Given the description of an element on the screen output the (x, y) to click on. 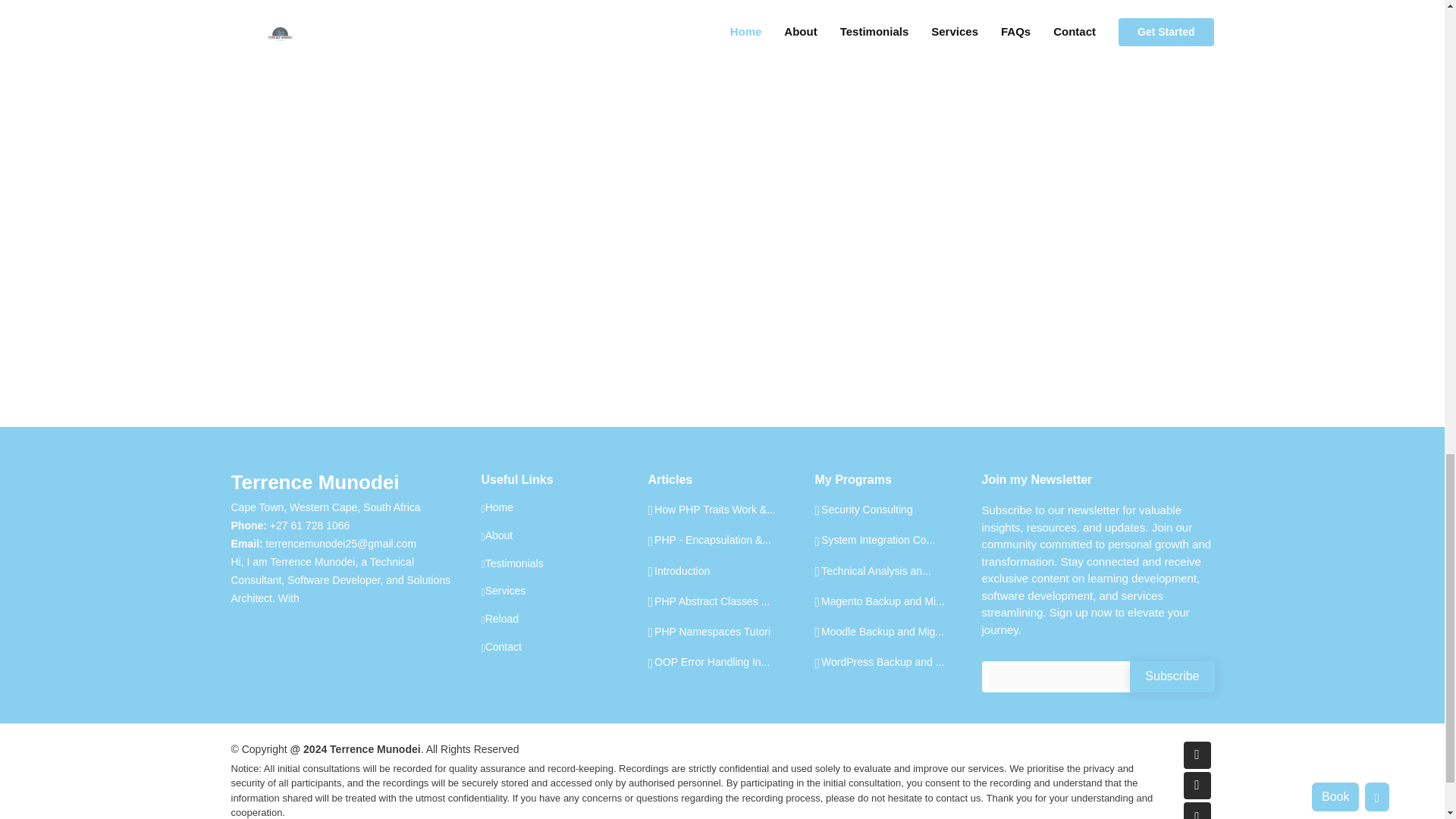
OOP Error Handling In... (708, 661)
Testimonials (511, 563)
Contact (500, 647)
PHP Namespaces Tutori (708, 631)
Reload (499, 619)
About (496, 535)
Subscribe (1171, 676)
PHP Abstract Classes ... (708, 601)
Home (496, 508)
Introduction (678, 570)
